Given the description of an element on the screen output the (x, y) to click on. 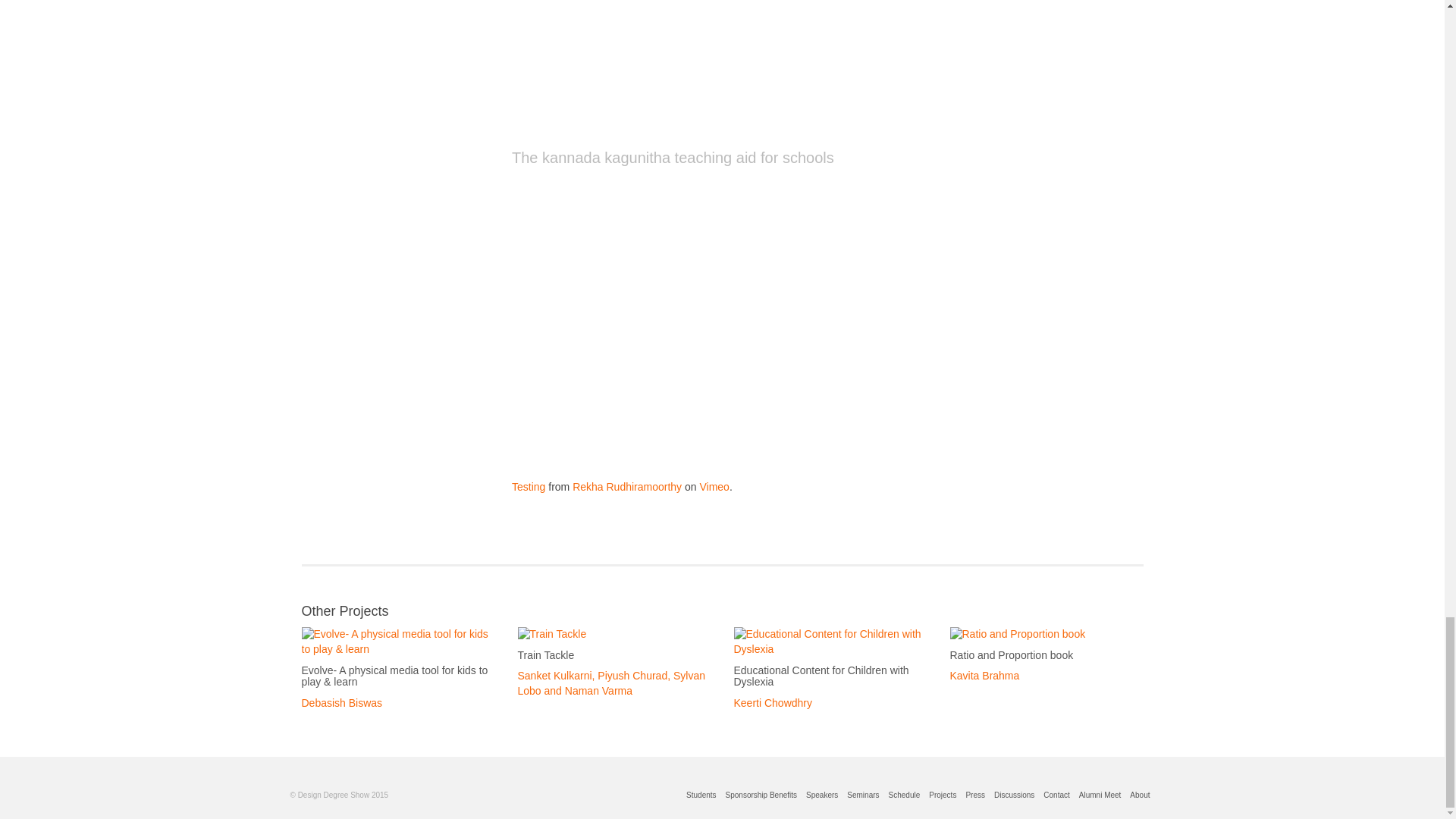
Seminars (863, 795)
Vimeo (713, 486)
Projects (942, 795)
Students (700, 795)
Speakers (822, 795)
Schedule (903, 795)
Testing (528, 486)
Sponsorship Benefits (761, 795)
